Given the description of an element on the screen output the (x, y) to click on. 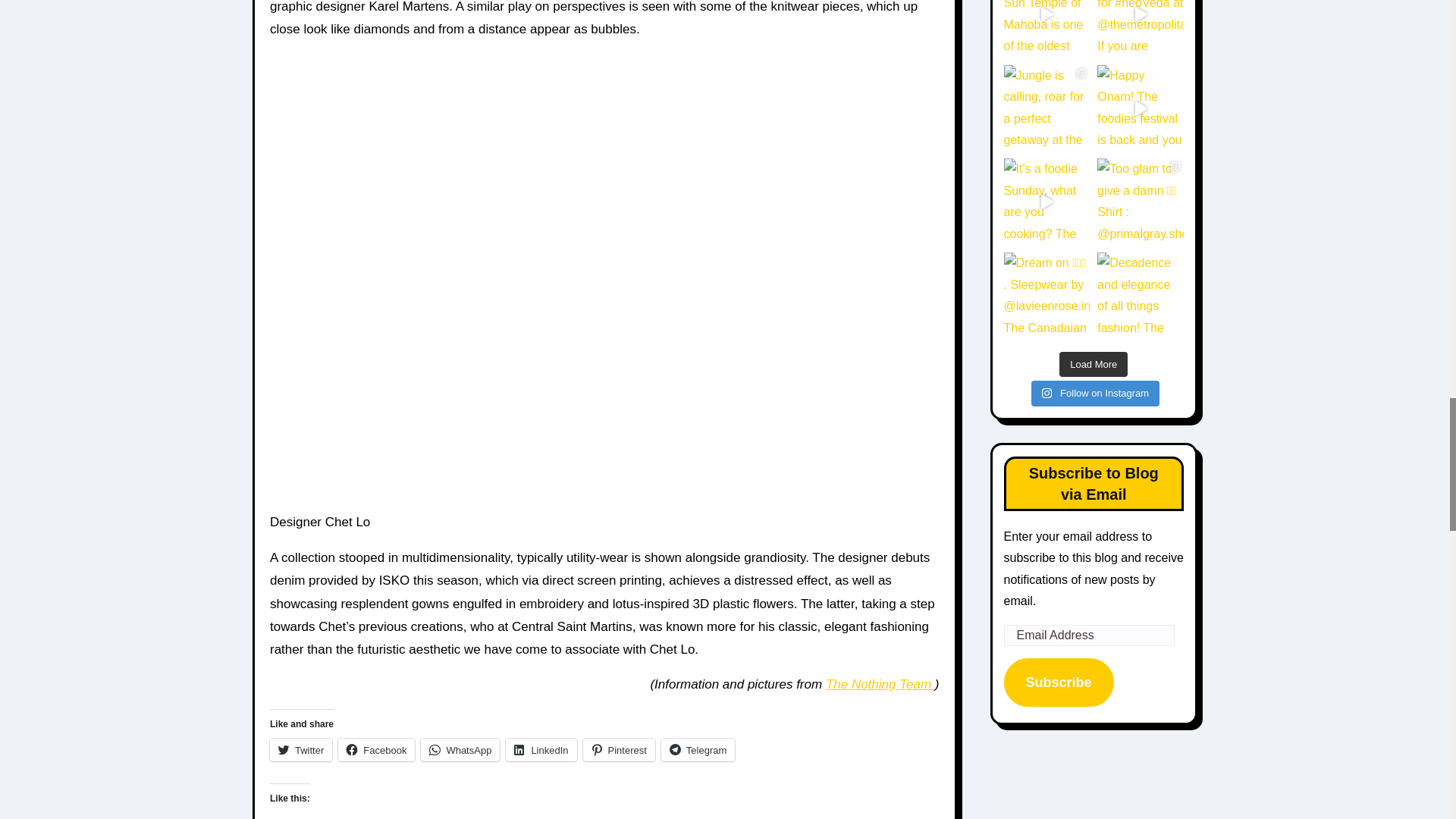
Click to share on Twitter (300, 749)
Click to share on Facebook (375, 749)
Click to share on WhatsApp (459, 749)
